Given the description of an element on the screen output the (x, y) to click on. 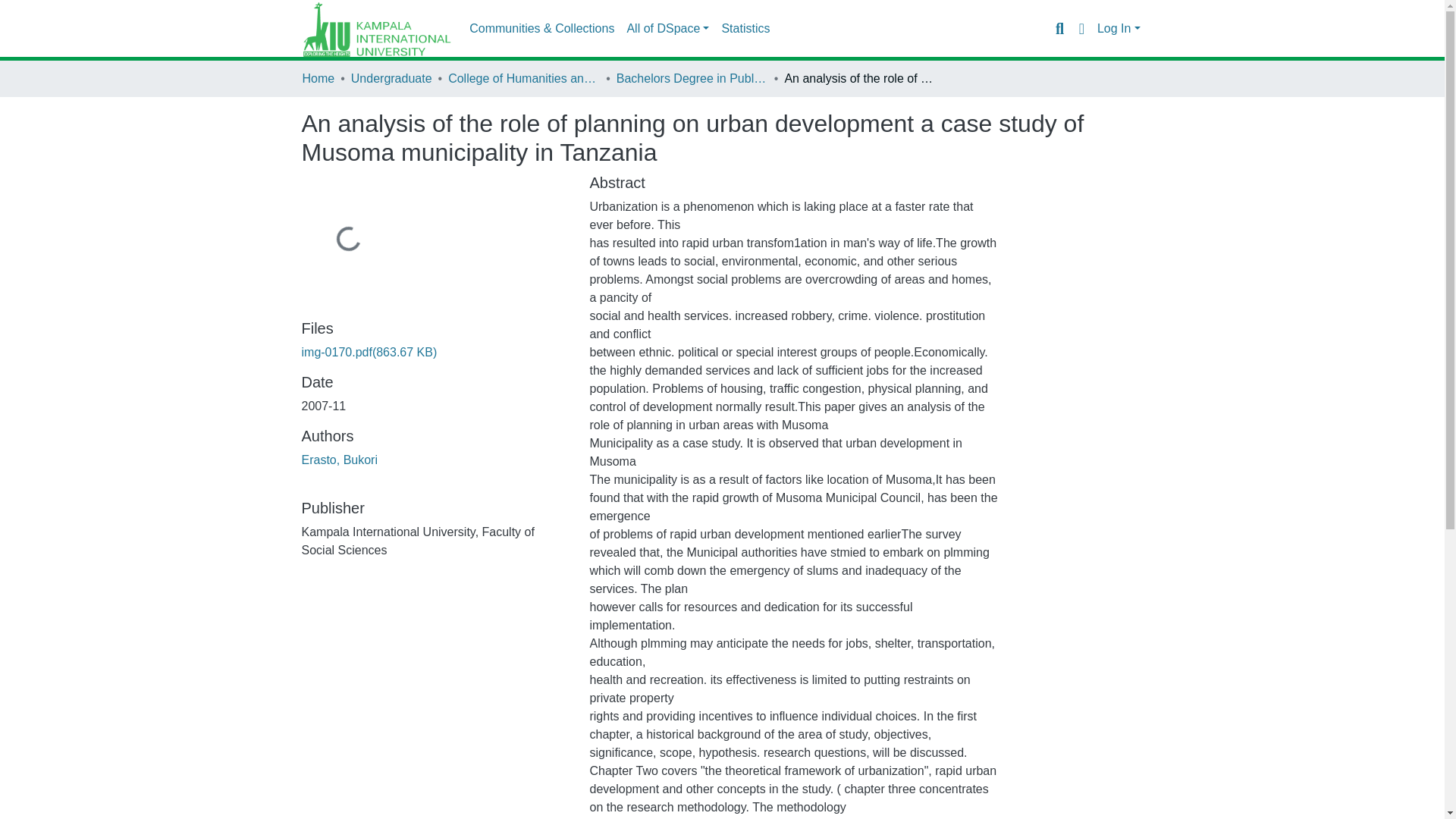
All of DSpace (667, 28)
Language switch (1081, 28)
Search (1058, 28)
Undergraduate (391, 78)
Statistics (745, 28)
Log In (1118, 28)
Statistics (745, 28)
Home (317, 78)
Bachelors Degree in Public Administration (691, 78)
Erasto, Bukori (339, 459)
